Given the description of an element on the screen output the (x, y) to click on. 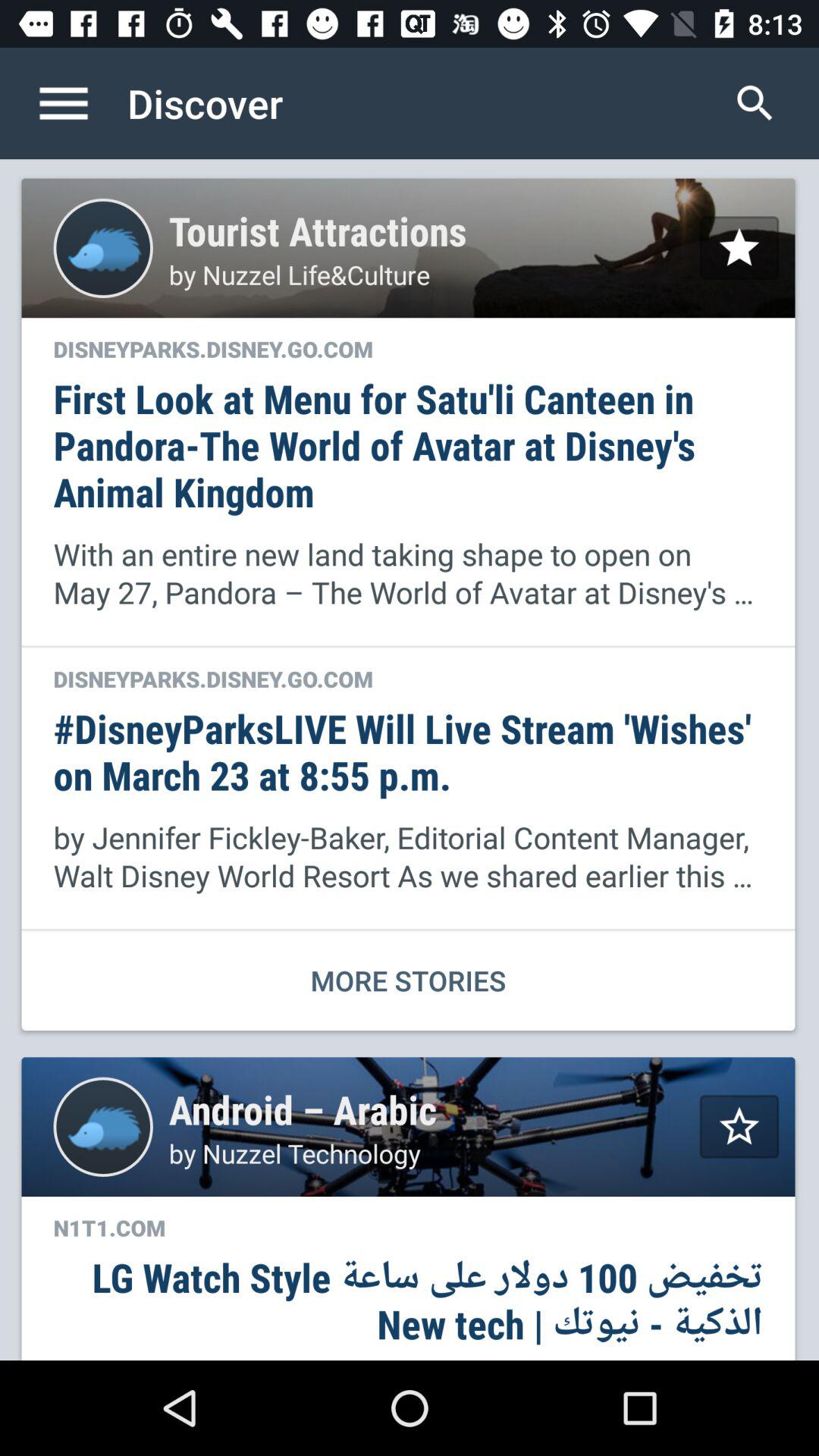
turn off the icon to the left of the discover item (79, 103)
